Given the description of an element on the screen output the (x, y) to click on. 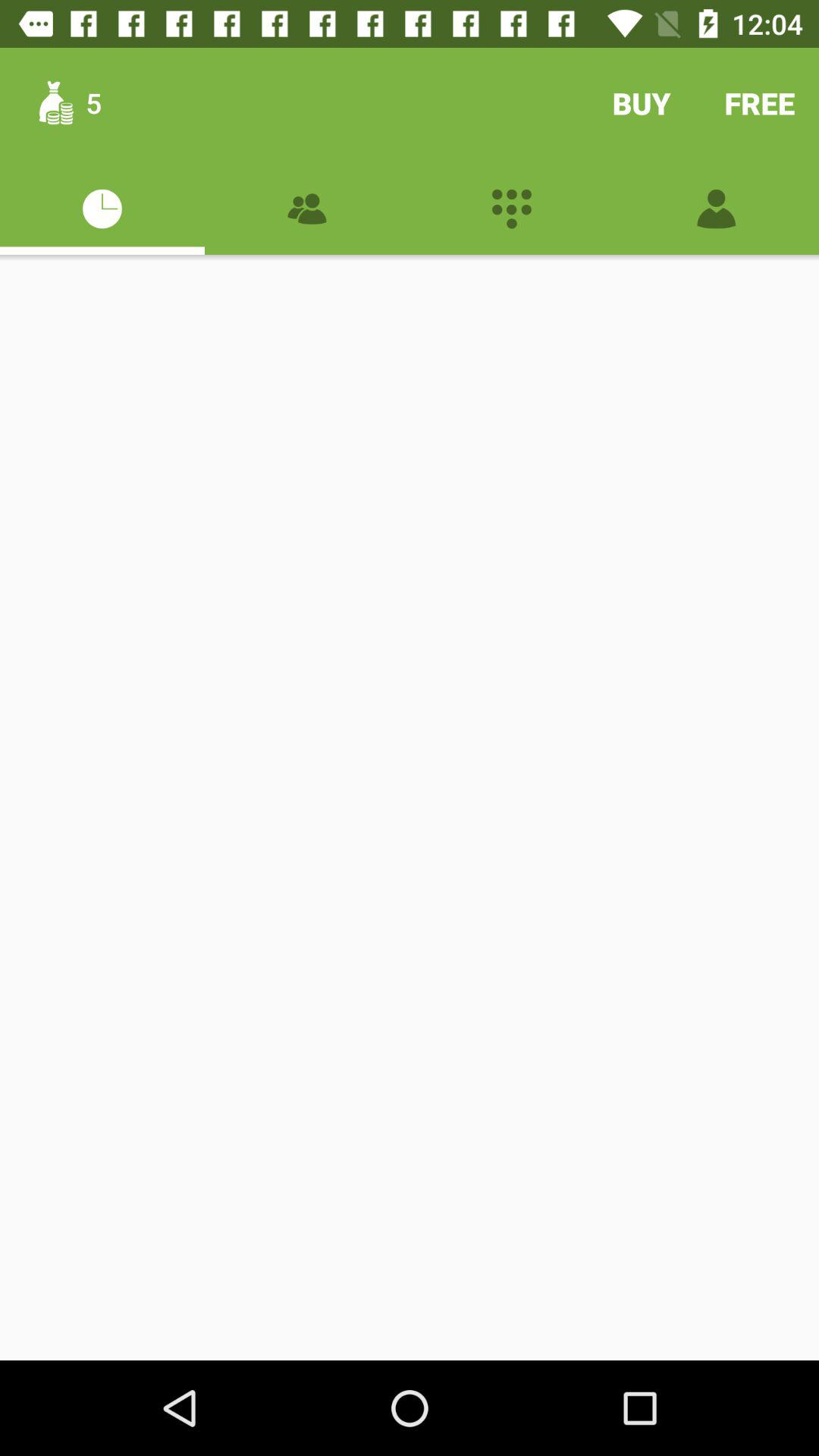
tap the free (759, 103)
